Given the description of an element on the screen output the (x, y) to click on. 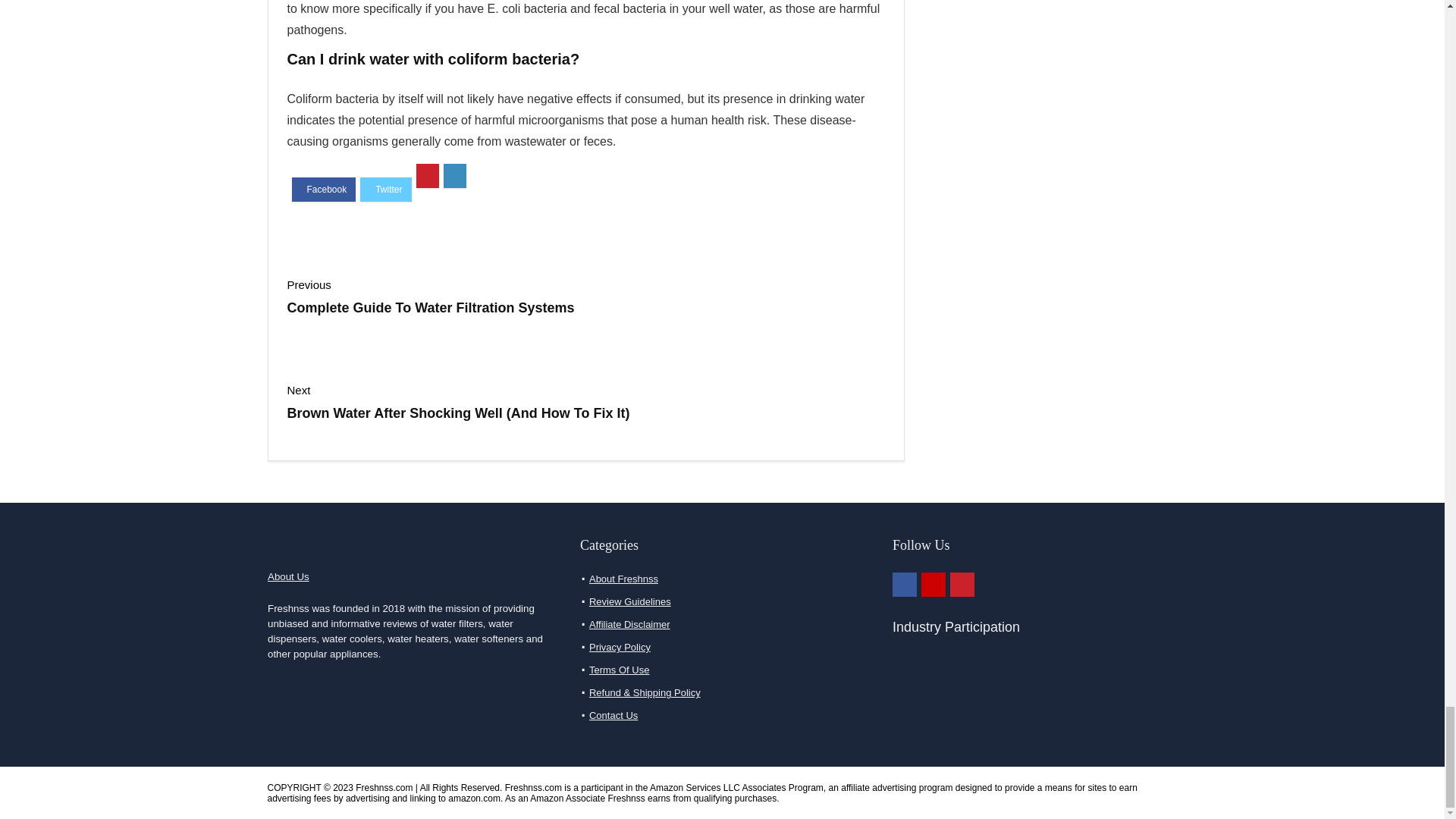
DMCA.com Protection Status (967, 740)
